Given the description of an element on the screen output the (x, y) to click on. 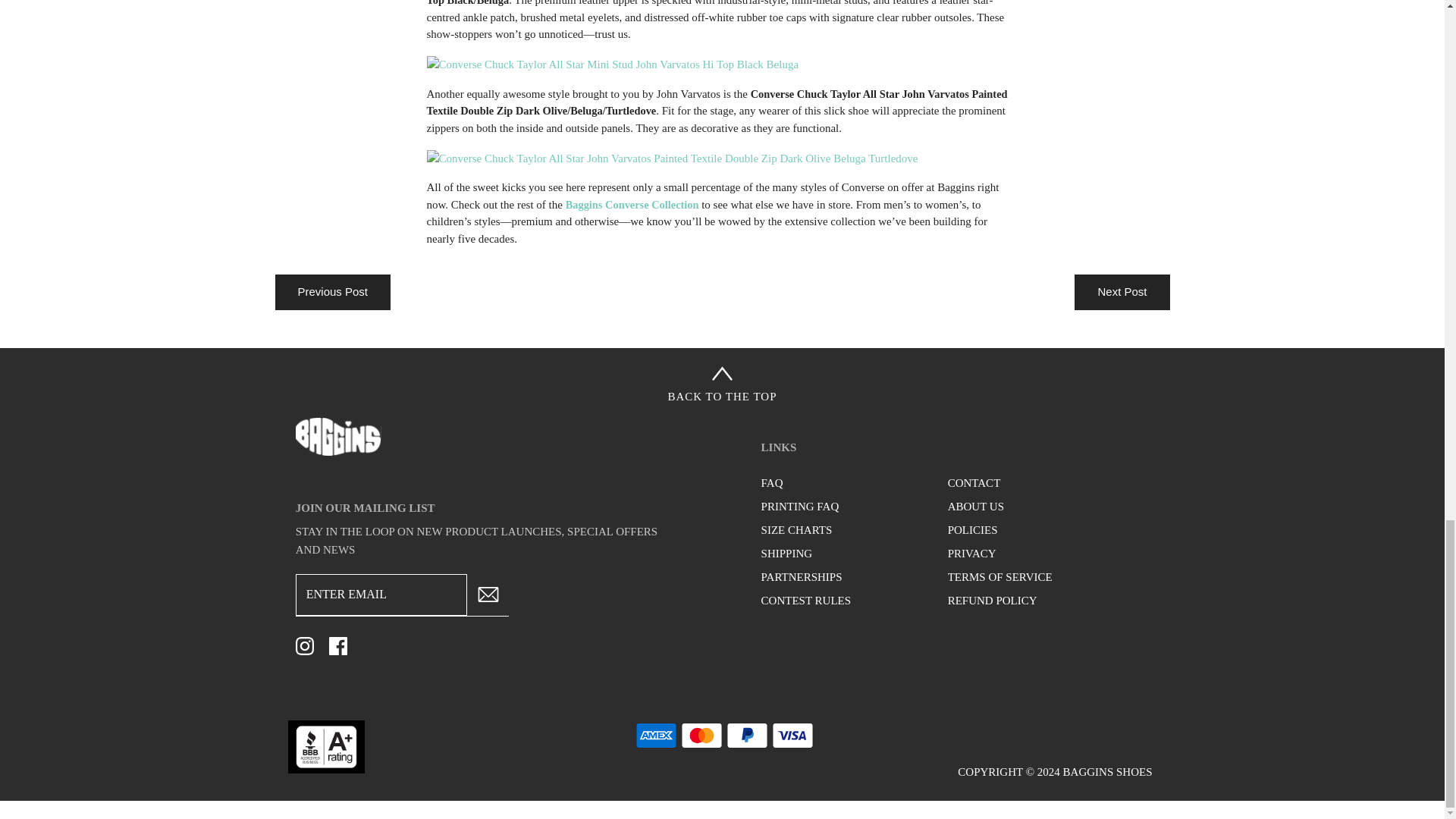
Mastercard (701, 735)
INSTAGRAM ICON (304, 646)
American Express (655, 735)
PayPal (747, 735)
Visa (792, 735)
FACEBOOK ICON (338, 646)
